Given the description of an element on the screen output the (x, y) to click on. 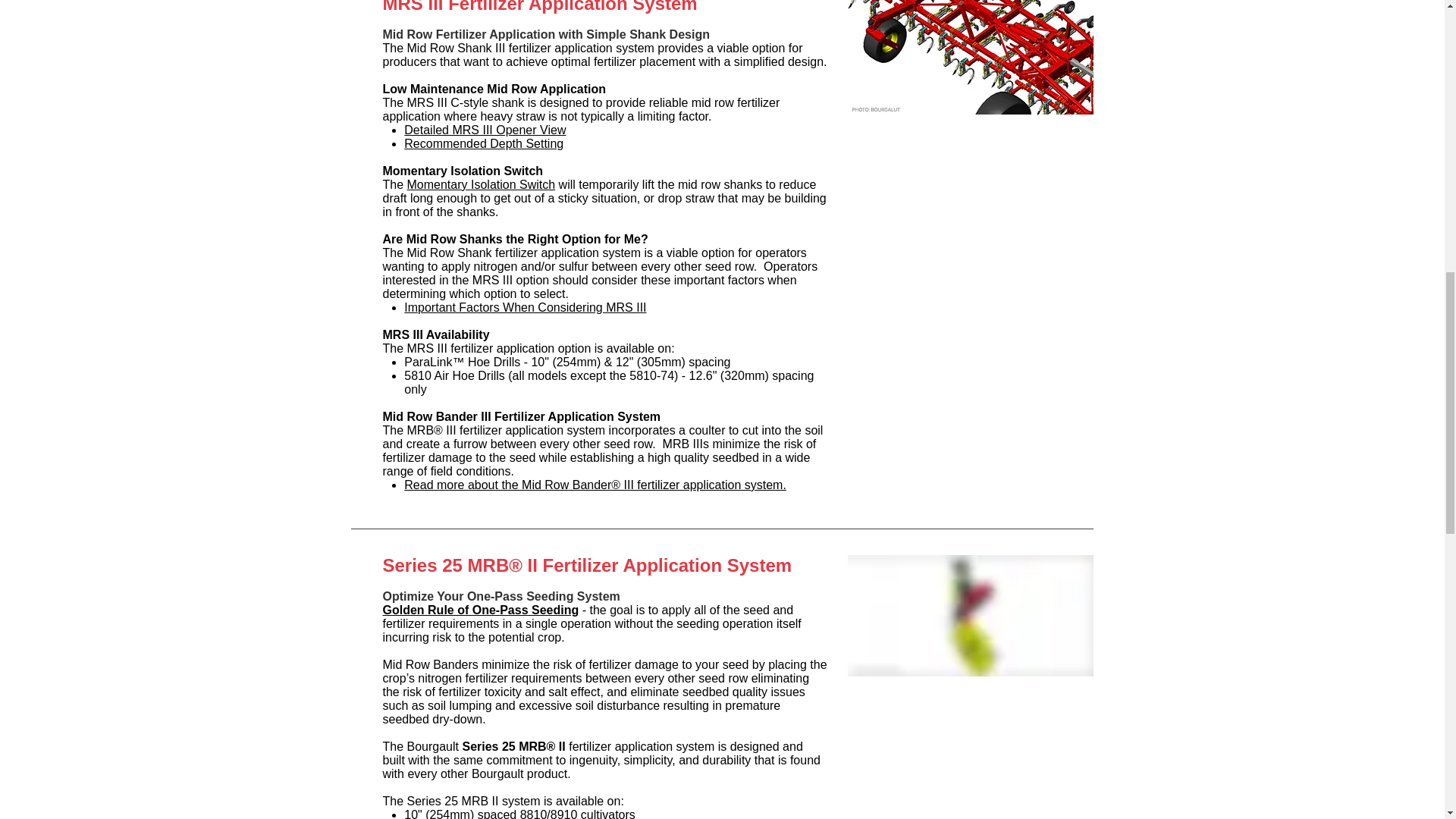
Momentary Isolation Switch (481, 184)
Recommended Depth Setting (483, 143)
Golden Rule of One-Pass Seeding (479, 609)
Detailed MRS III Opener View (485, 129)
Important Factors When Considering MRS III (525, 307)
